Given the description of an element on the screen output the (x, y) to click on. 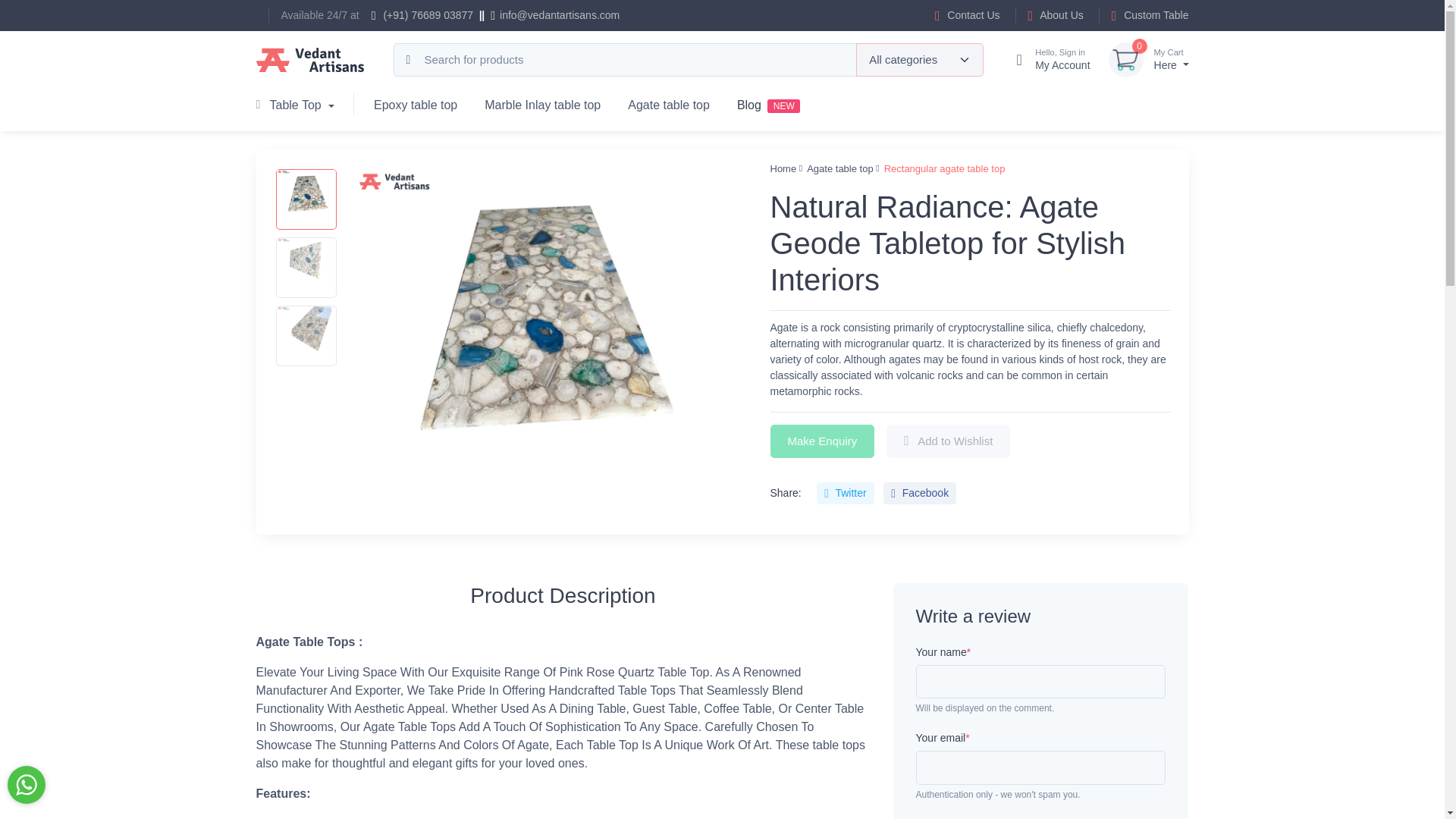
0 (1125, 59)
About Us (1048, 15)
Table Top (301, 103)
Contact Us (1165, 59)
Custom Table (967, 15)
